Given the description of an element on the screen output the (x, y) to click on. 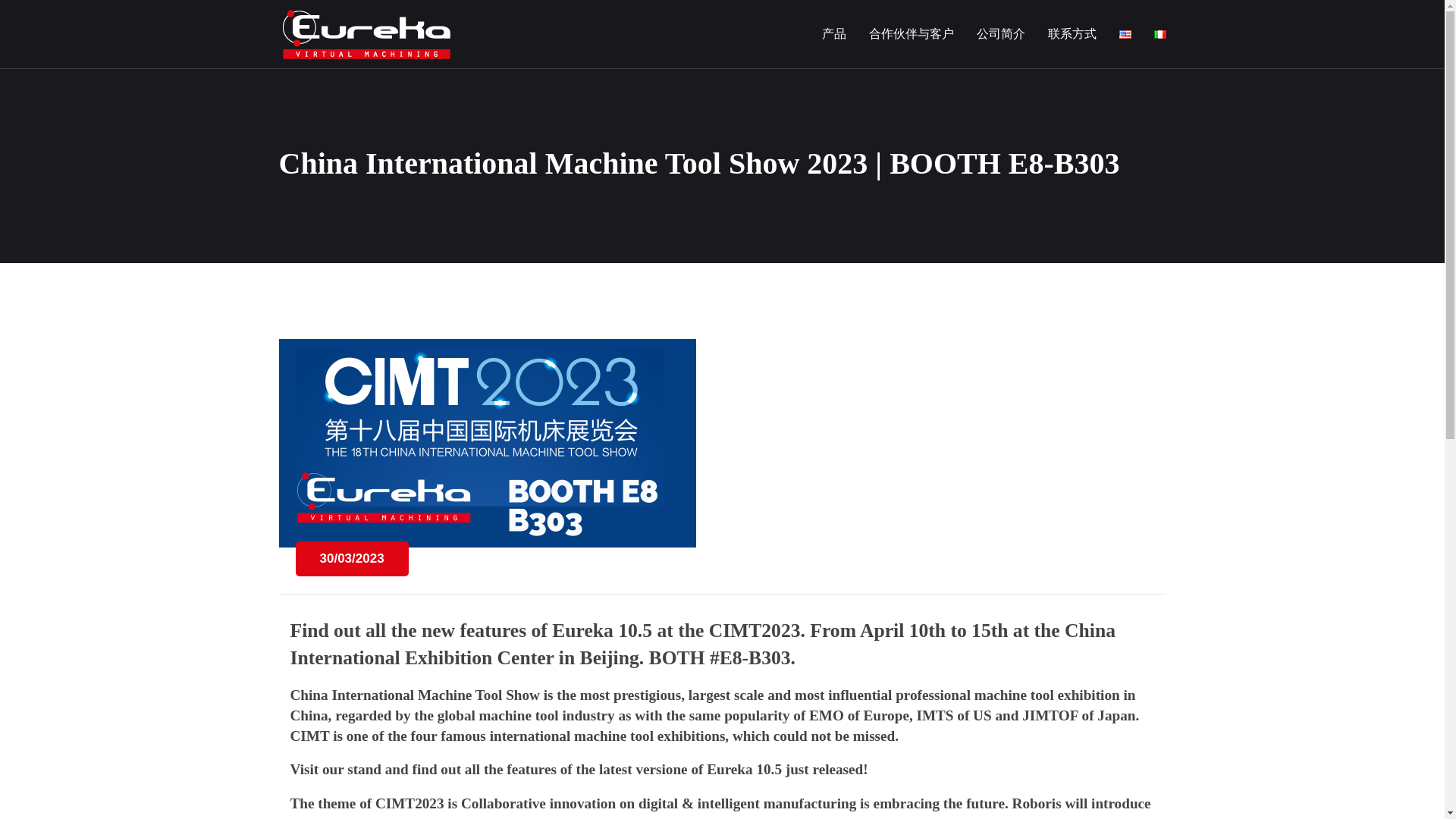
Nortech (365, 33)
